Given the description of an element on the screen output the (x, y) to click on. 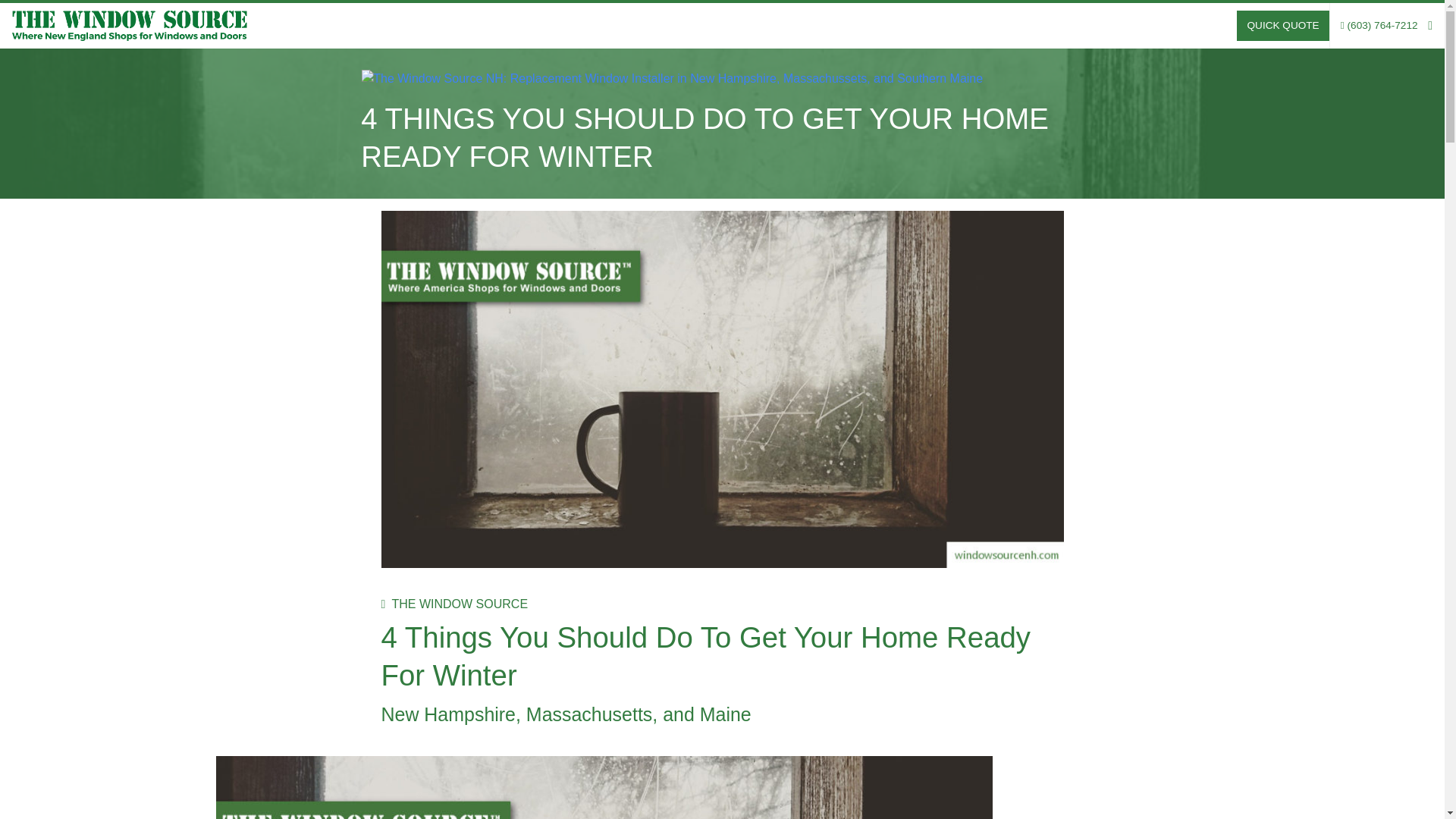
QUICK QUOTE (1282, 25)
4 THINGS YOU SHOULD DO TO GET YOUR HOME READY FOR WINTER (704, 137)
